Given the description of an element on the screen output the (x, y) to click on. 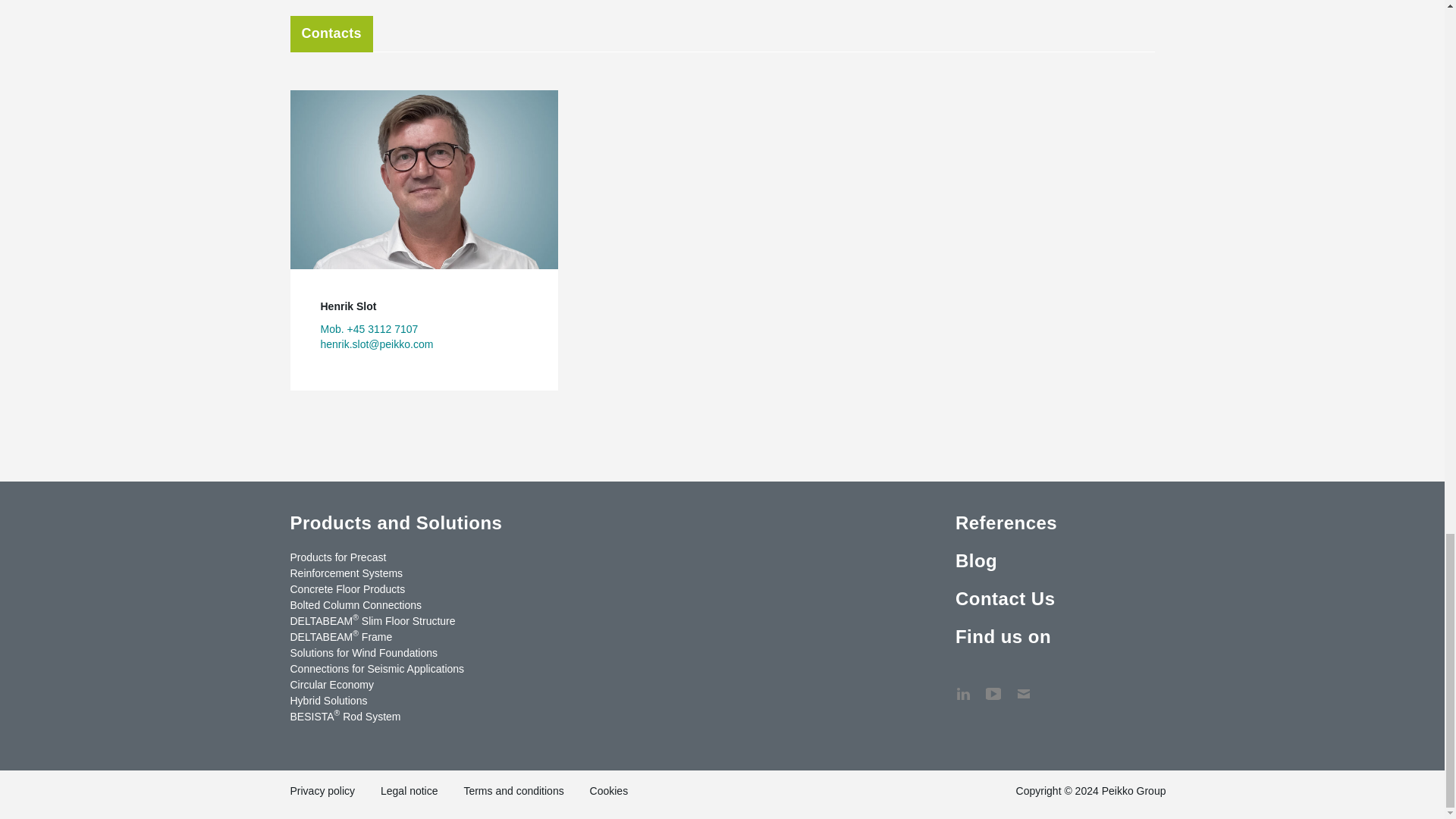
LinkedIn (963, 685)
YouTube (993, 685)
Contact Us (1023, 685)
